Given the description of an element on the screen output the (x, y) to click on. 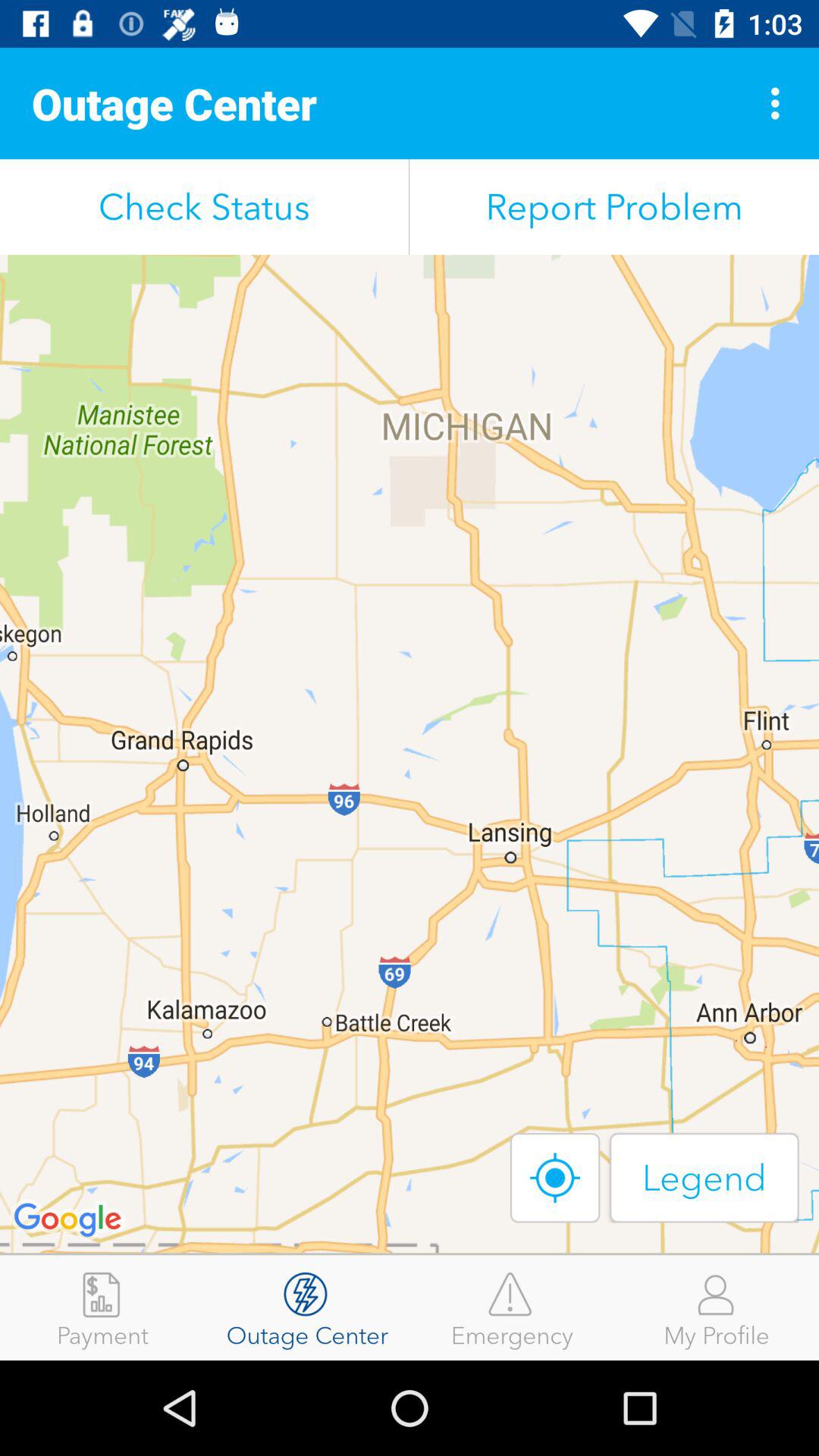
choose the icon next to the outage center icon (102, 1307)
